Given the description of an element on the screen output the (x, y) to click on. 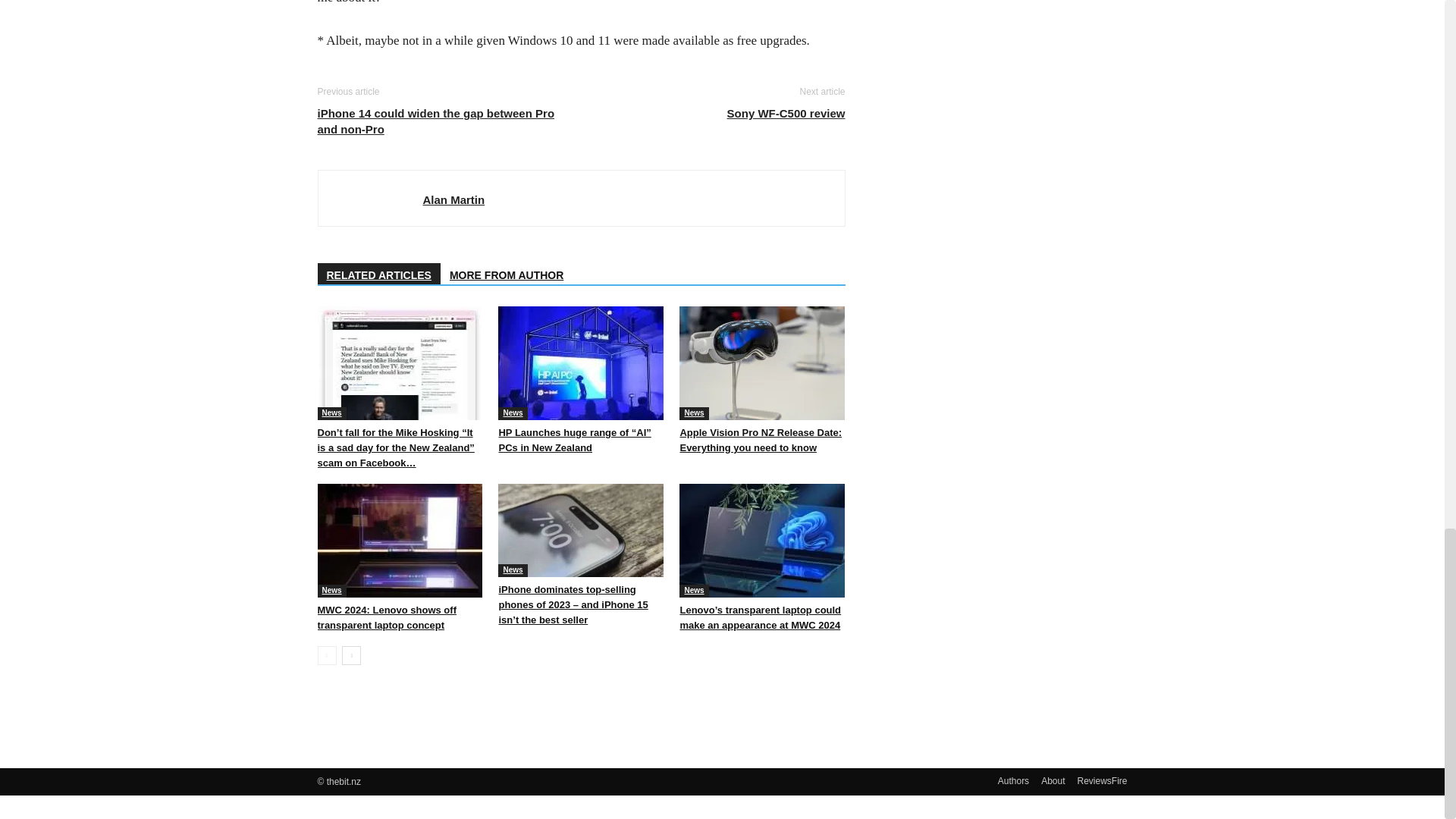
Alan Martin (453, 199)
iPhone 14 could widen the gap between Pro and non-Pro (439, 121)
Sony WF-C500 review (785, 113)
